Given the description of an element on the screen output the (x, y) to click on. 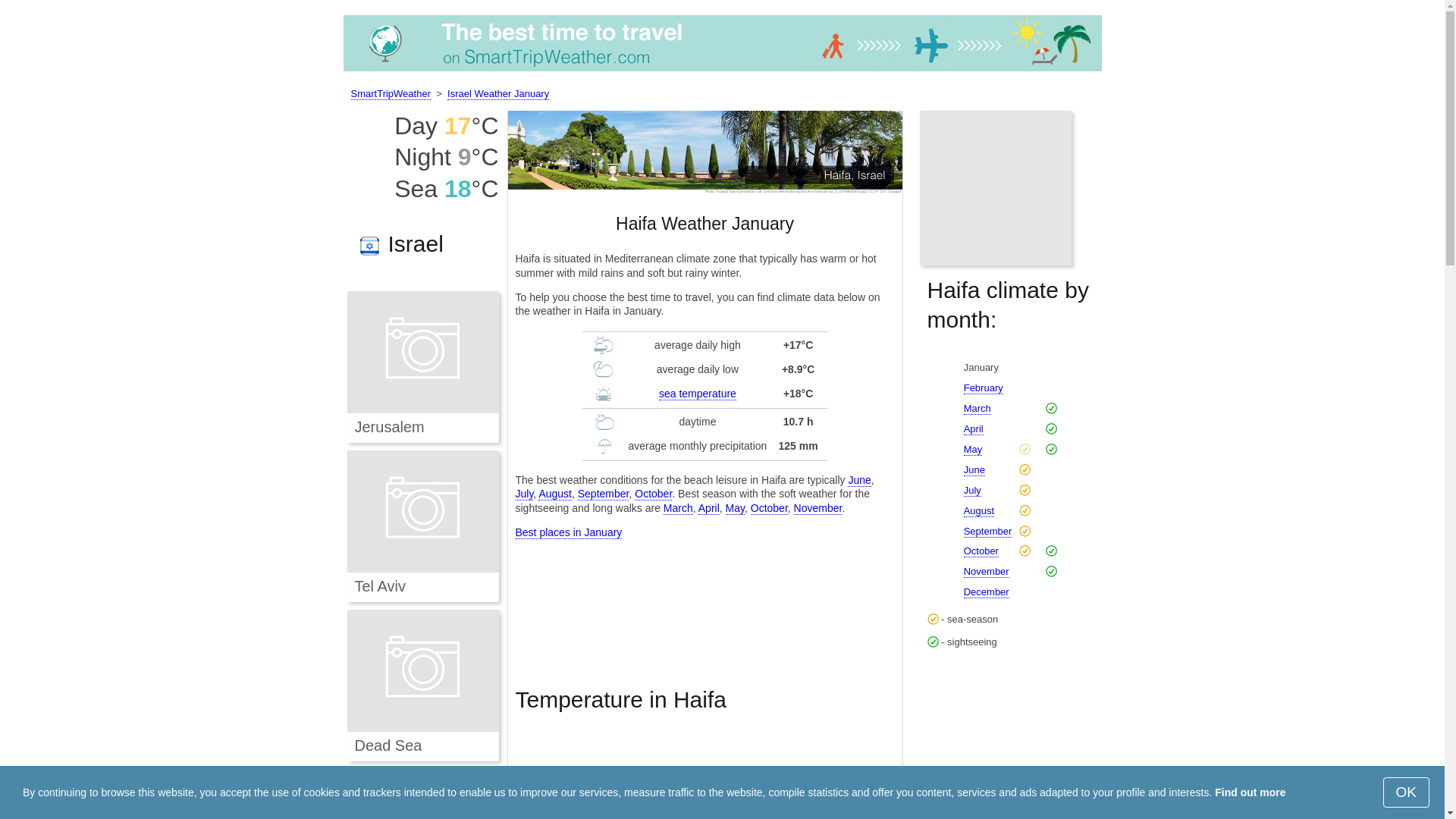
SmartTripWeather (721, 45)
November (818, 508)
Weather (389, 93)
OK (1406, 792)
July (524, 493)
August (555, 493)
sea temperature (697, 393)
Advertisement (705, 598)
June (858, 480)
Best places in January (569, 532)
May (734, 508)
sea temperature (603, 393)
Find out more (1249, 792)
night temperature (603, 369)
day temperature (603, 344)
